Given the description of an element on the screen output the (x, y) to click on. 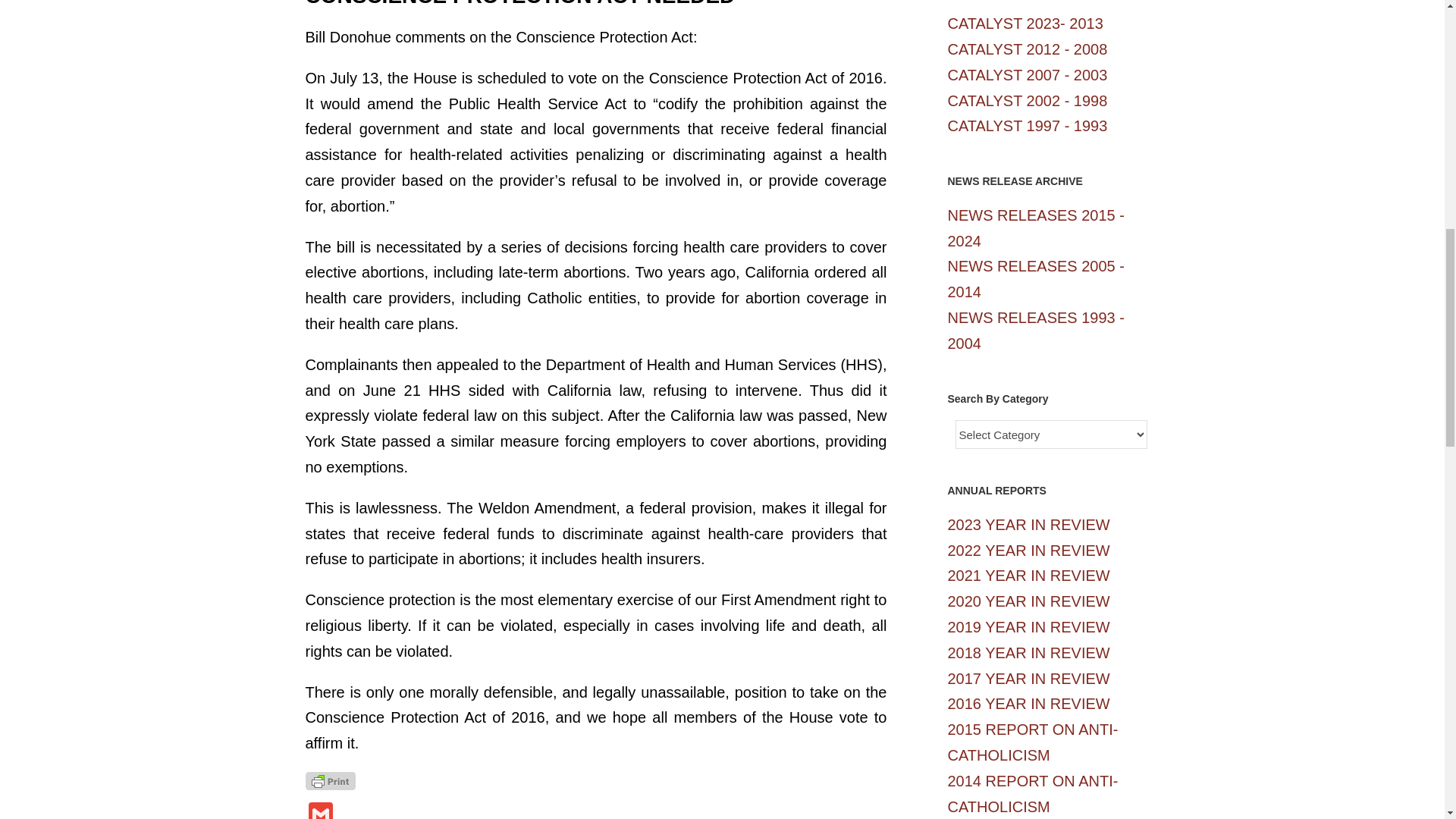
Gmail (319, 810)
